Given the description of an element on the screen output the (x, y) to click on. 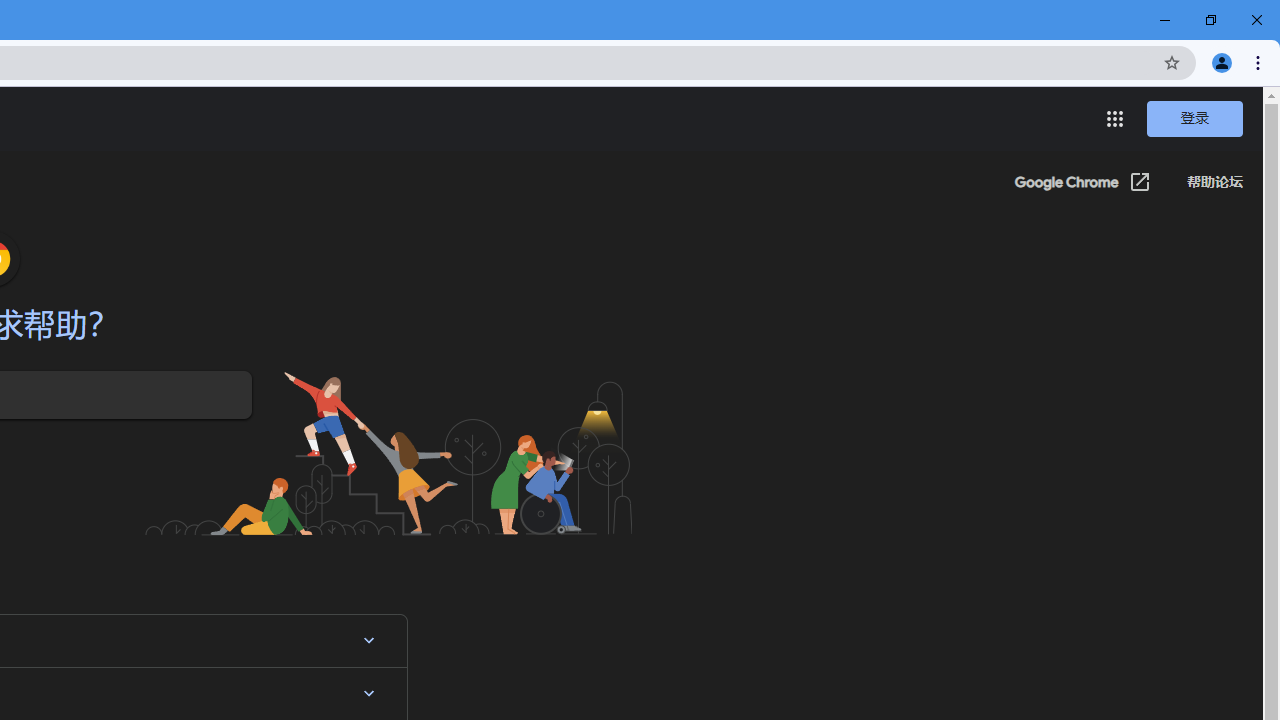
Restore (1210, 20)
Minimize (1165, 20)
You (1221, 62)
Chrome (1260, 62)
Bookmark this tab (1171, 62)
Close (1256, 20)
